Given the description of an element on the screen output the (x, y) to click on. 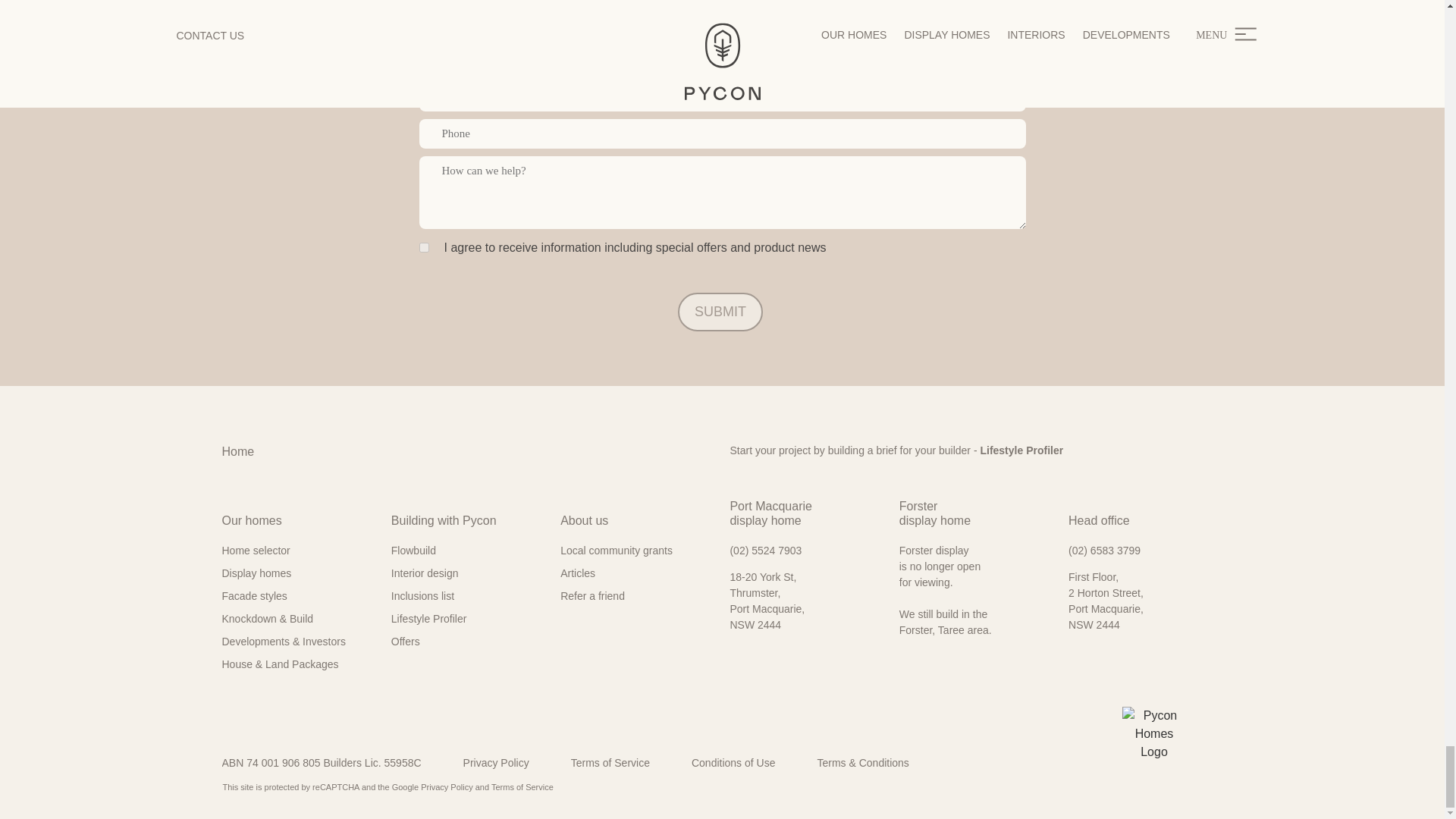
Home (237, 452)
Building with Pycon (443, 527)
Display homes (298, 573)
Home selector (298, 550)
Submit (720, 311)
Our homes (251, 527)
Flowbuild (467, 550)
1 (423, 247)
Facade styles (298, 596)
